Given the description of an element on the screen output the (x, y) to click on. 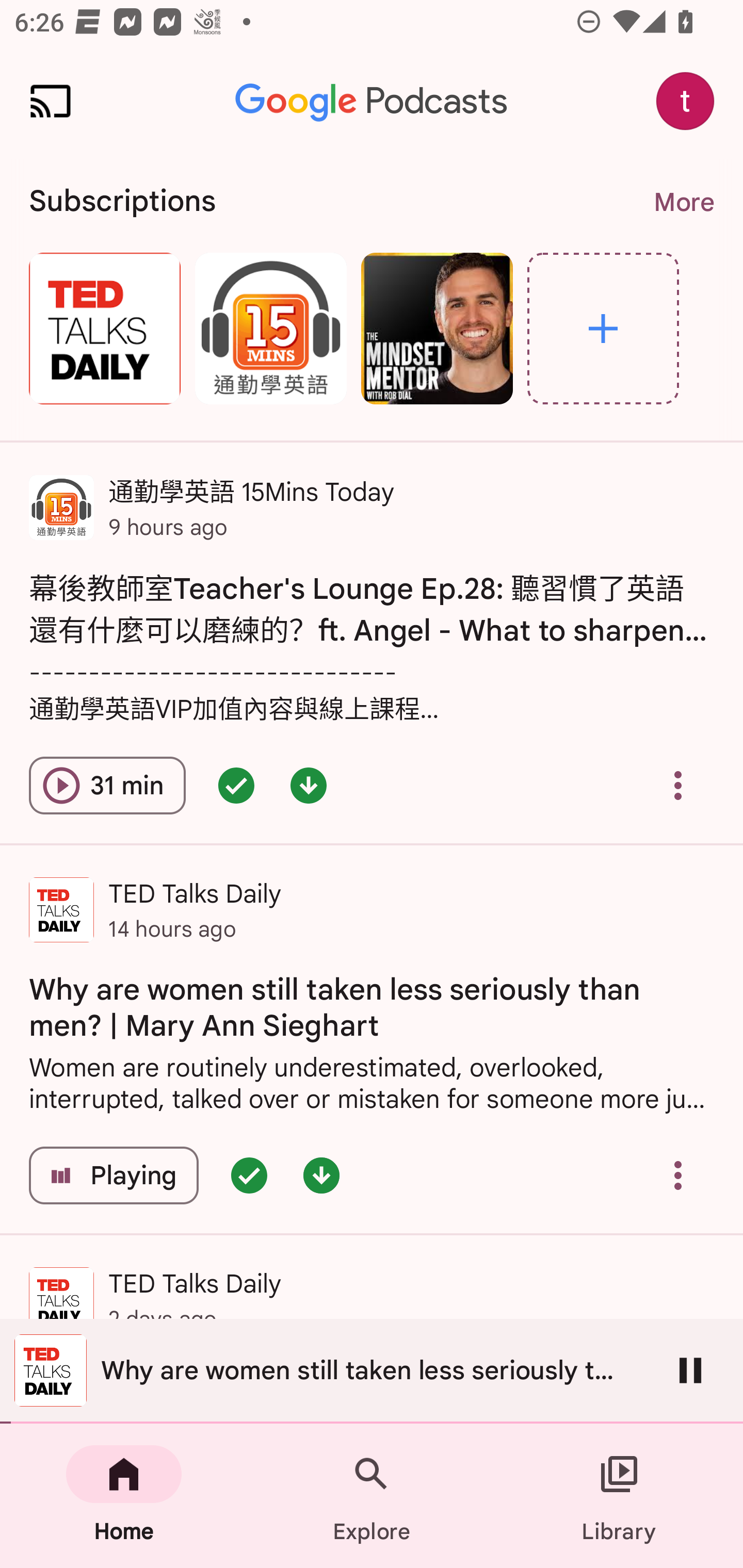
Cast. Disconnected (50, 101)
More More. Navigate to subscriptions page. (683, 202)
TED Talks Daily (104, 328)
通勤學英語 15Mins Today (270, 328)
The Mindset Mentor (436, 328)
Explore (603, 328)
Episode queued - double tap for options (235, 785)
Episode downloaded - double tap for options (308, 785)
Overflow menu (677, 785)
Episode queued - double tap for options (249, 1175)
Episode downloaded - double tap for options 0.0 (321, 1175)
Overflow menu (677, 1175)
Pause (690, 1370)
Explore (371, 1495)
Library (619, 1495)
